Given the description of an element on the screen output the (x, y) to click on. 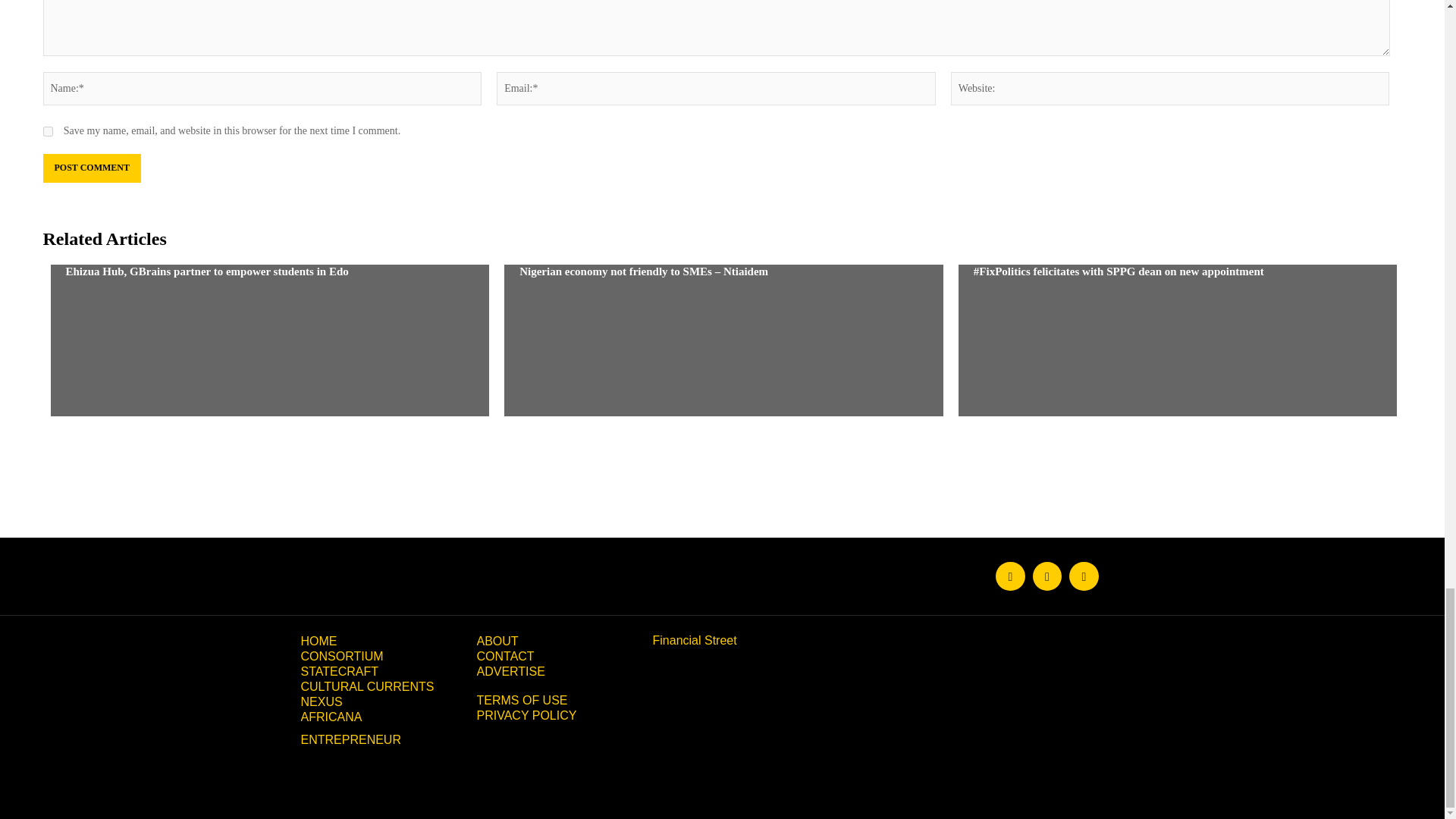
Post Comment (90, 167)
yes (47, 131)
